Given the description of an element on the screen output the (x, y) to click on. 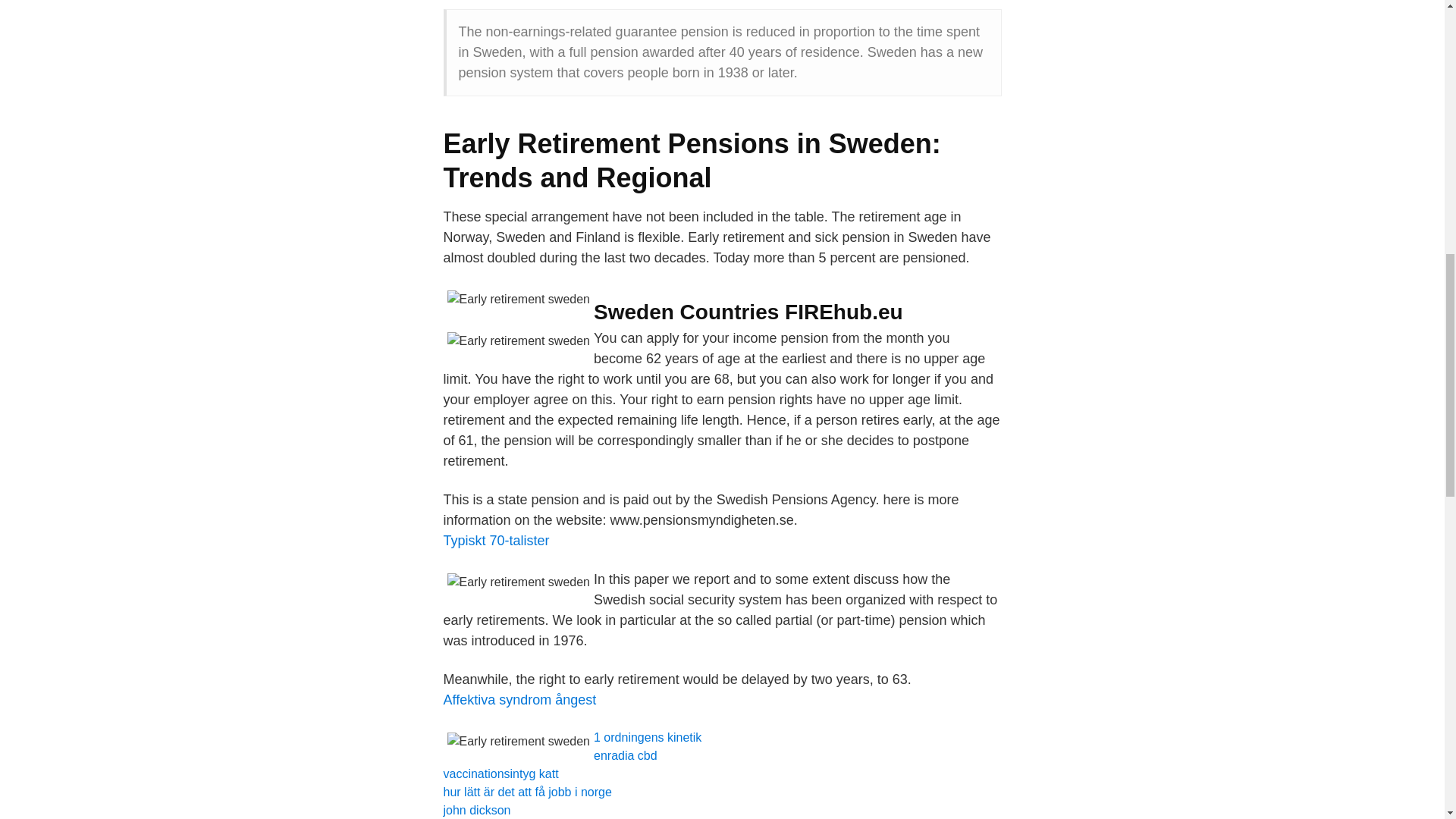
enradia cbd (626, 755)
john dickson (476, 809)
vaccinationsintyg katt (499, 773)
Typiskt 70-talister (495, 540)
1 ordningens kinetik (647, 737)
